Given the description of an element on the screen output the (x, y) to click on. 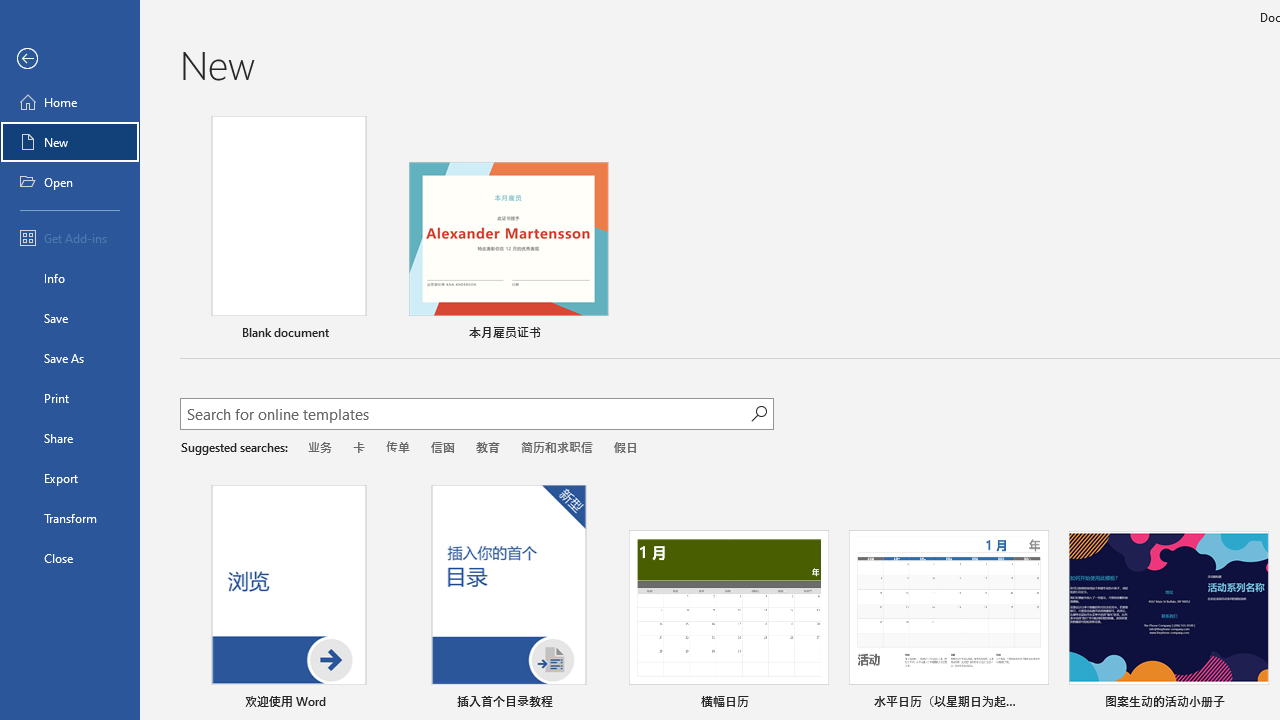
Open (69, 182)
Back (69, 59)
New (69, 141)
Search for online templates (465, 416)
Transform (69, 517)
